Given the description of an element on the screen output the (x, y) to click on. 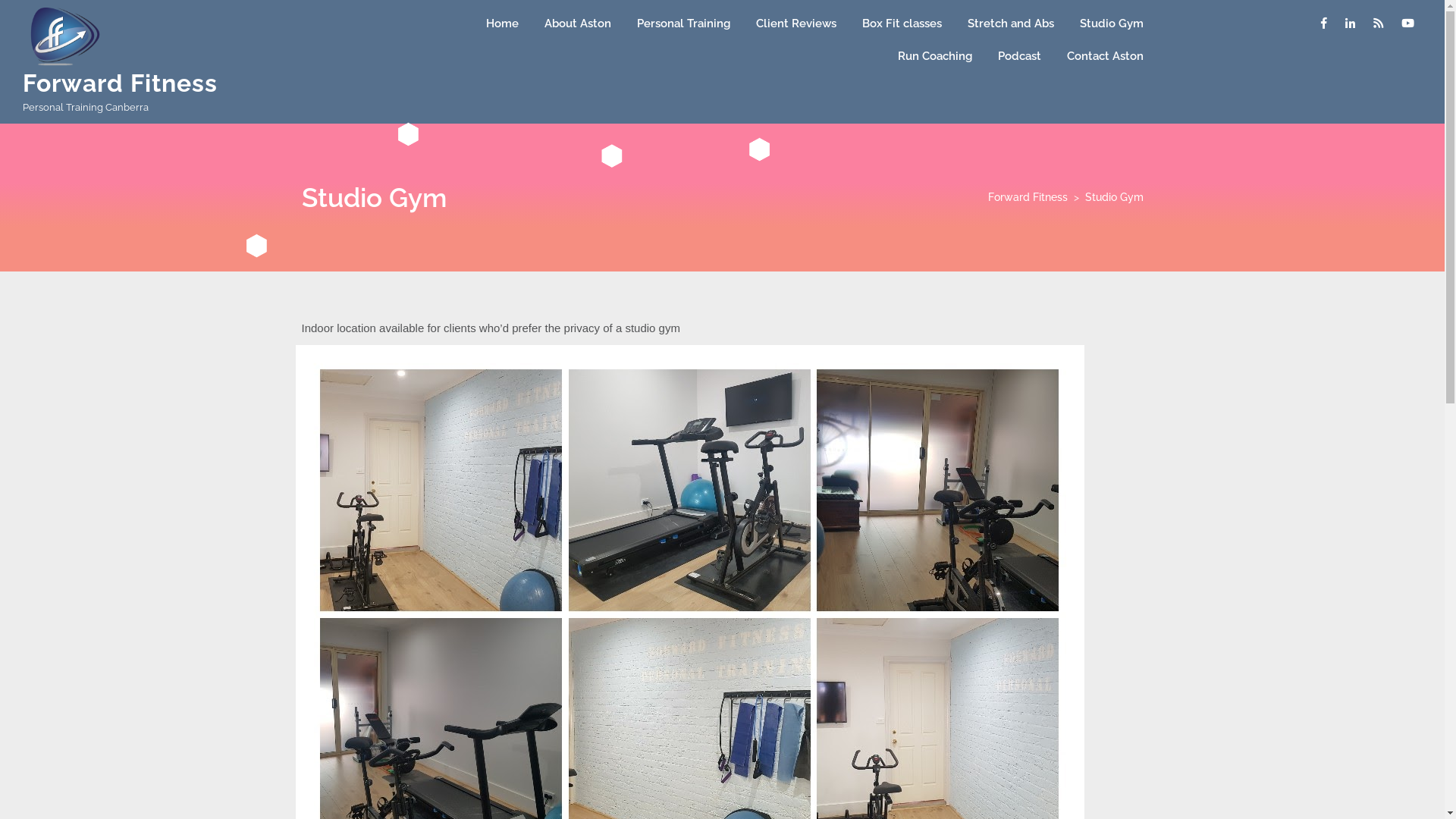
Contact Aston Element type: text (1104, 55)
RSS Element type: text (1377, 23)
Client Reviews Element type: text (795, 23)
Run Coaching Element type: text (934, 55)
Box Fit classes Element type: text (901, 23)
Forward Fitness Element type: text (119, 83)
Studio Gym Element type: text (1111, 23)
Podcast Element type: text (1019, 55)
Linkedin Element type: text (1349, 23)
Youtube Element type: text (1407, 23)
Stretch and Abs Element type: text (1010, 23)
Personal Training Element type: text (683, 23)
About Aston Element type: text (577, 23)
Facebook Element type: text (1323, 23)
Forward Fitness Element type: text (1026, 197)
Home Element type: text (502, 23)
